Given the description of an element on the screen output the (x, y) to click on. 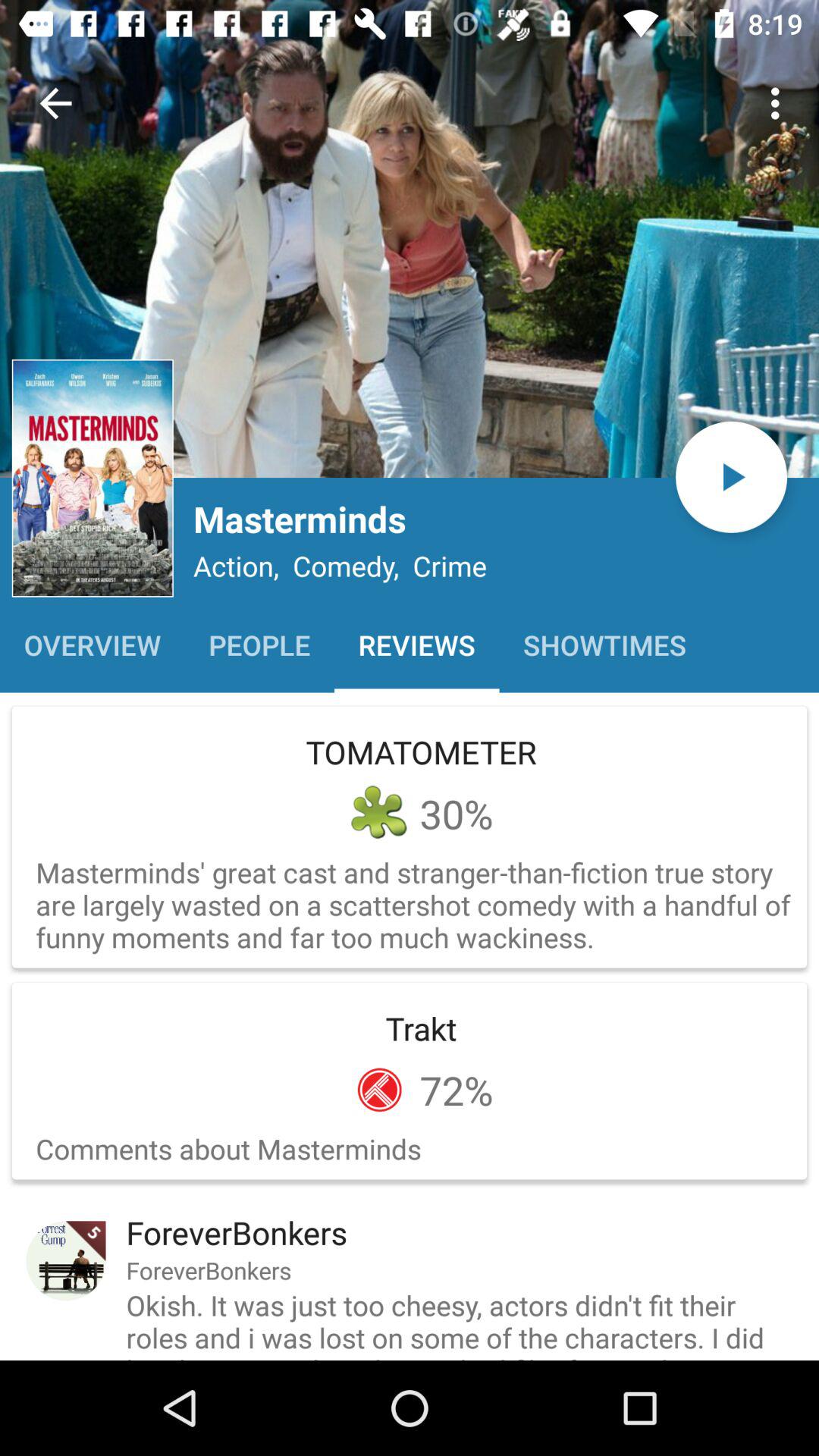
play video (731, 476)
